Given the description of an element on the screen output the (x, y) to click on. 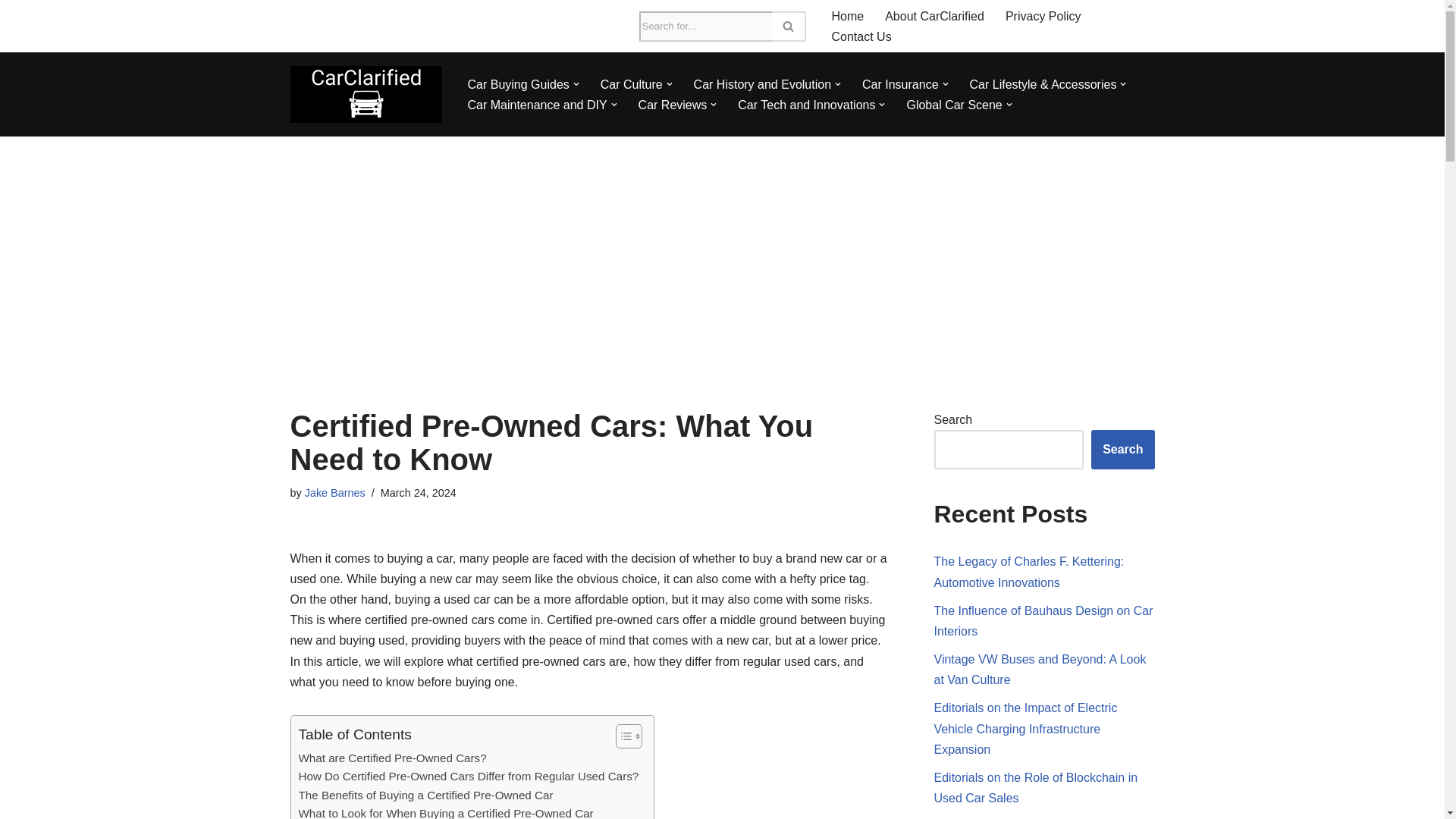
Contact Us (861, 36)
Car History and Evolution (762, 84)
Car Insurance (900, 84)
The Benefits of Buying a Certified Pre-Owned Car (425, 795)
What are Certified Pre-Owned Cars? (392, 758)
Posts by Jake Barnes (334, 492)
Skip to content (11, 31)
Car Buying Guides (518, 84)
Privacy Policy (1043, 15)
What to Look for When Buying a Certified Pre-Owned Car (446, 811)
Car Maintenance and DIY (537, 105)
About CarClarified (934, 15)
Car Culture (630, 84)
Home (847, 15)
